Given the description of an element on the screen output the (x, y) to click on. 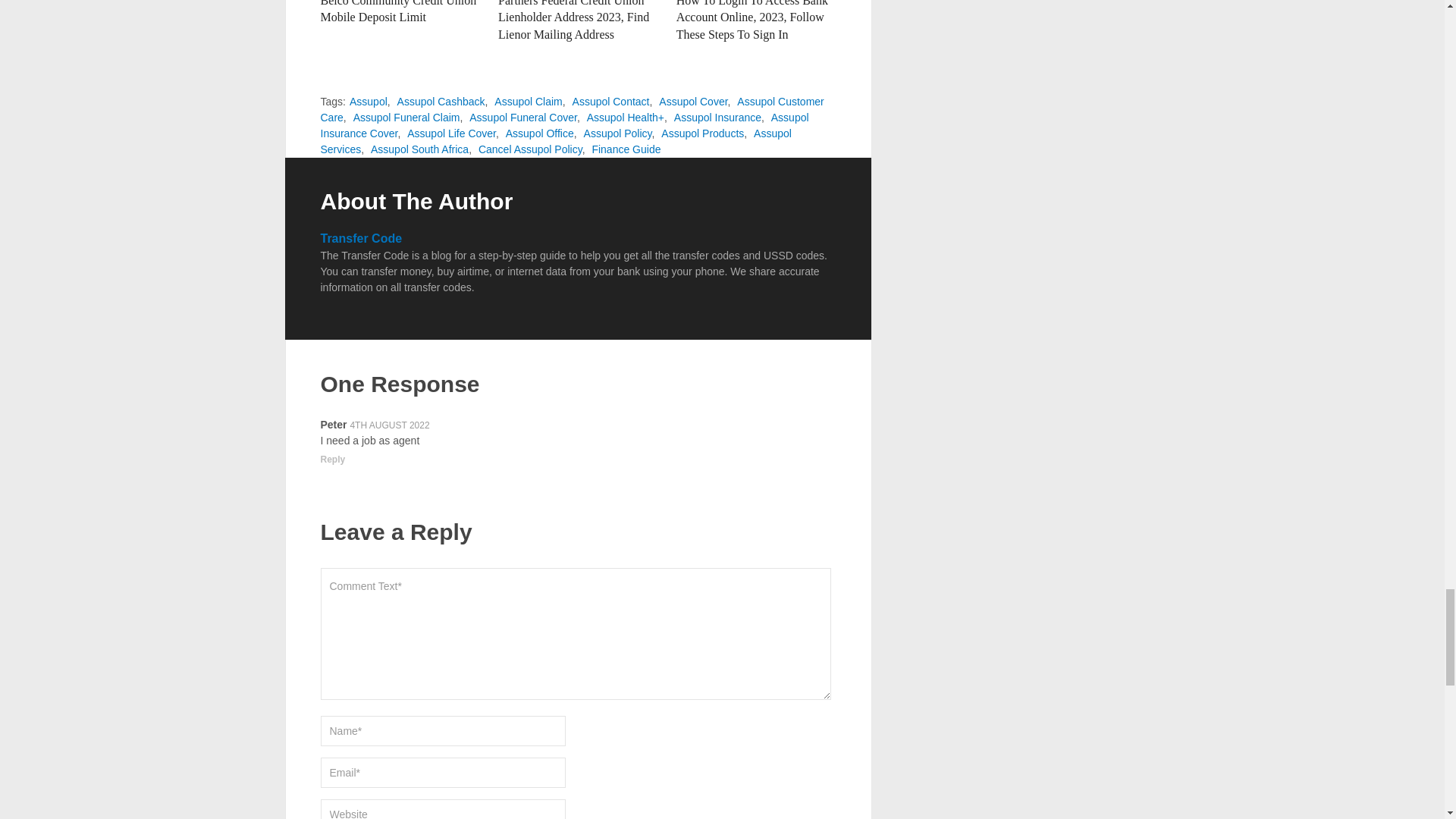
Belco Community Credit Union Mobile Deposit Limit (398, 11)
